Given the description of an element on the screen output the (x, y) to click on. 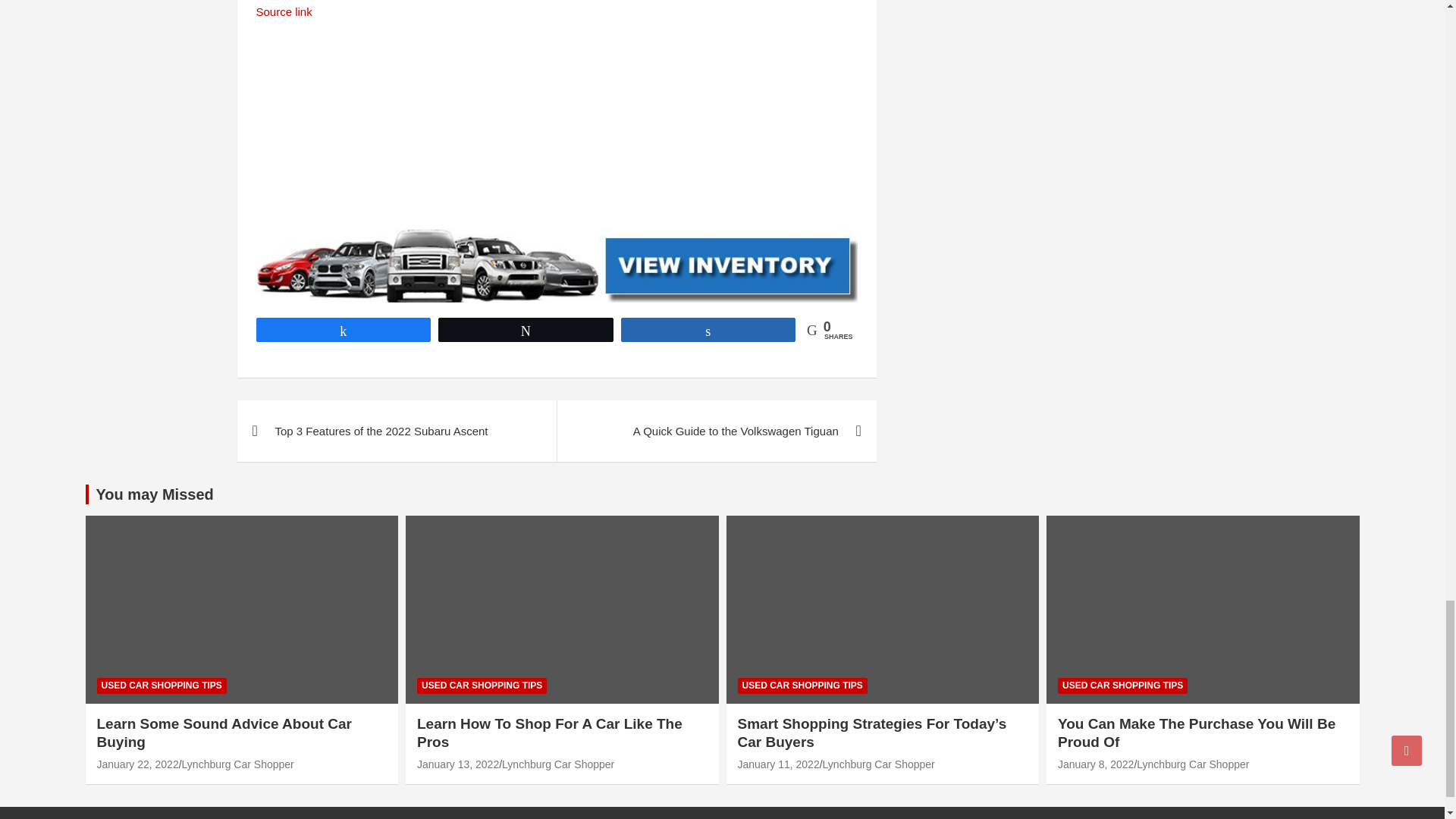
Learn How To Shop For A Car Like The Pros (457, 764)
Learn Some Sound Advice About Car Buying (138, 764)
Source link (284, 11)
Top 3 Features of the 2022 Subaru Ascent (395, 430)
You Can Make The Purchase You Will Be Proud Of (1096, 764)
A Quick Guide to the Volkswagen Tiguan (716, 430)
